Given the description of an element on the screen output the (x, y) to click on. 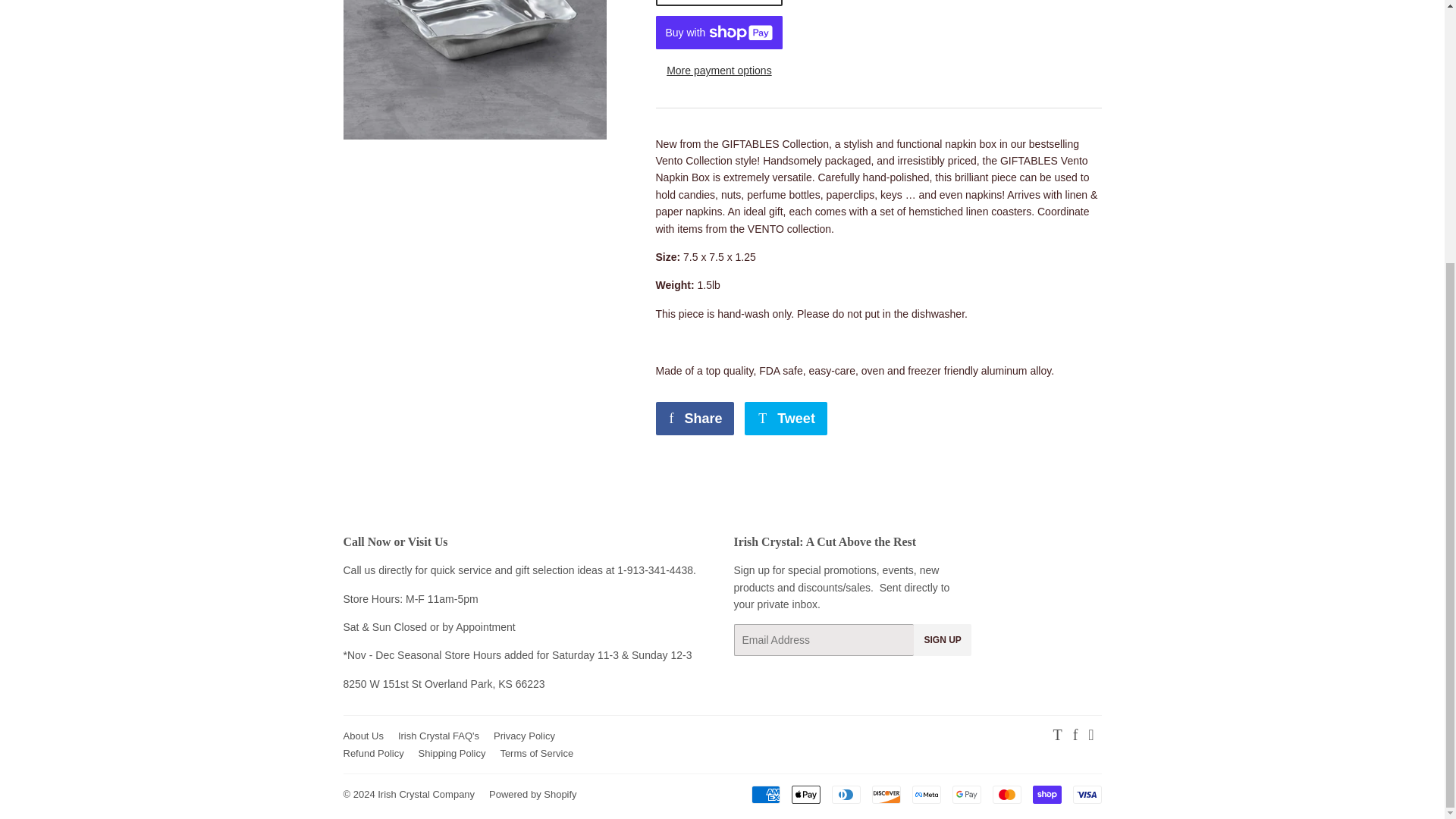
Discover (886, 794)
Apple Pay (806, 794)
Google Pay (966, 794)
Visa (1085, 794)
Share on Facebook (694, 418)
Mastercard (1005, 794)
Diners Club (845, 794)
Shop Pay (1046, 794)
American Express (764, 794)
Meta Pay (925, 794)
